Given the description of an element on the screen output the (x, y) to click on. 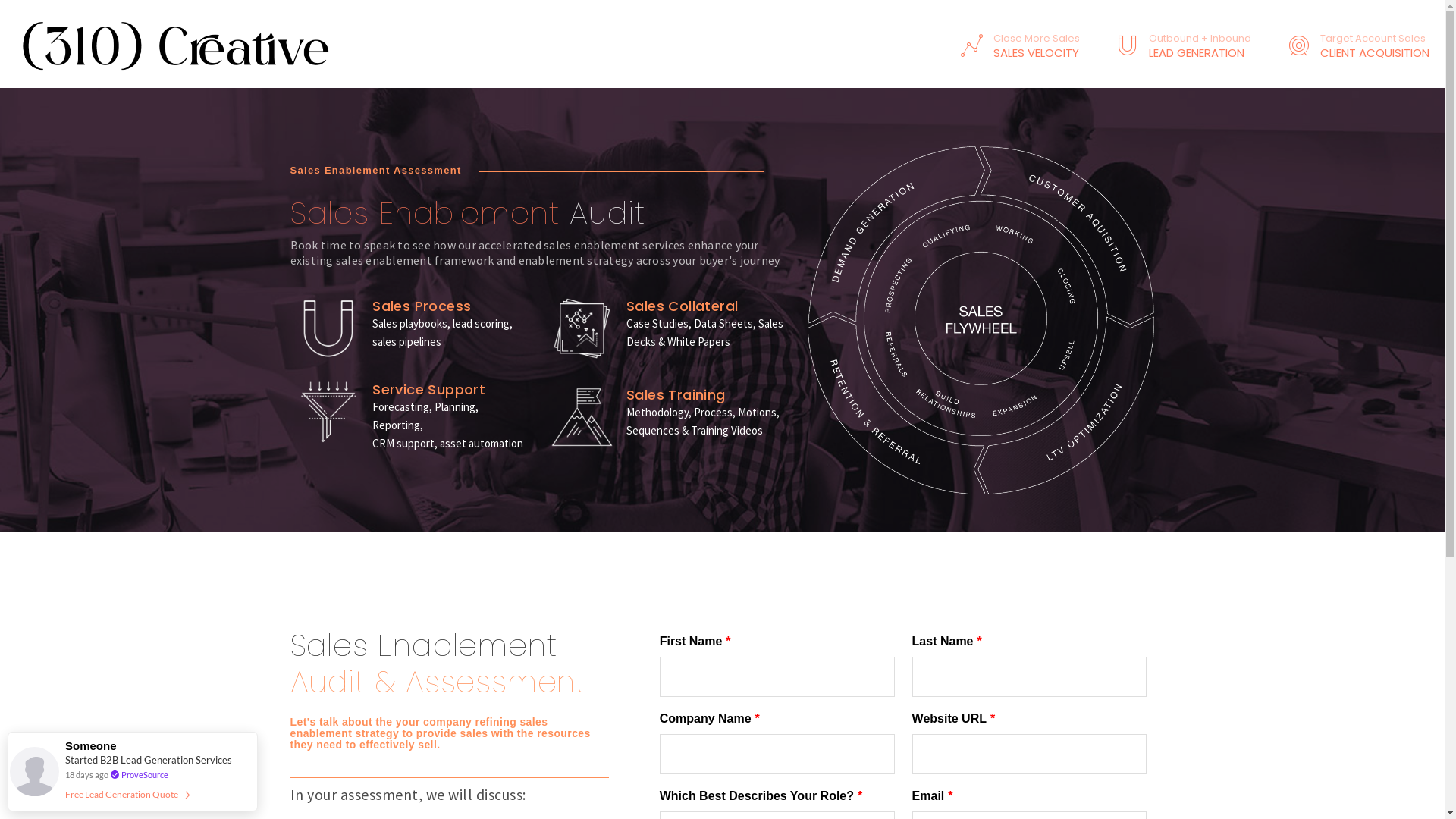
310creative-logo Element type: hover (178, 43)
sales enablement playbooks Element type: hover (581, 416)
sales enablement services Element type: hover (980, 320)
sales enablement Element type: hover (327, 328)
sales enablement collateral Element type: hover (581, 328)
ProveSource Element type: text (144, 774)
sales enablement strategy Element type: hover (327, 411)
